Given the description of an element on the screen output the (x, y) to click on. 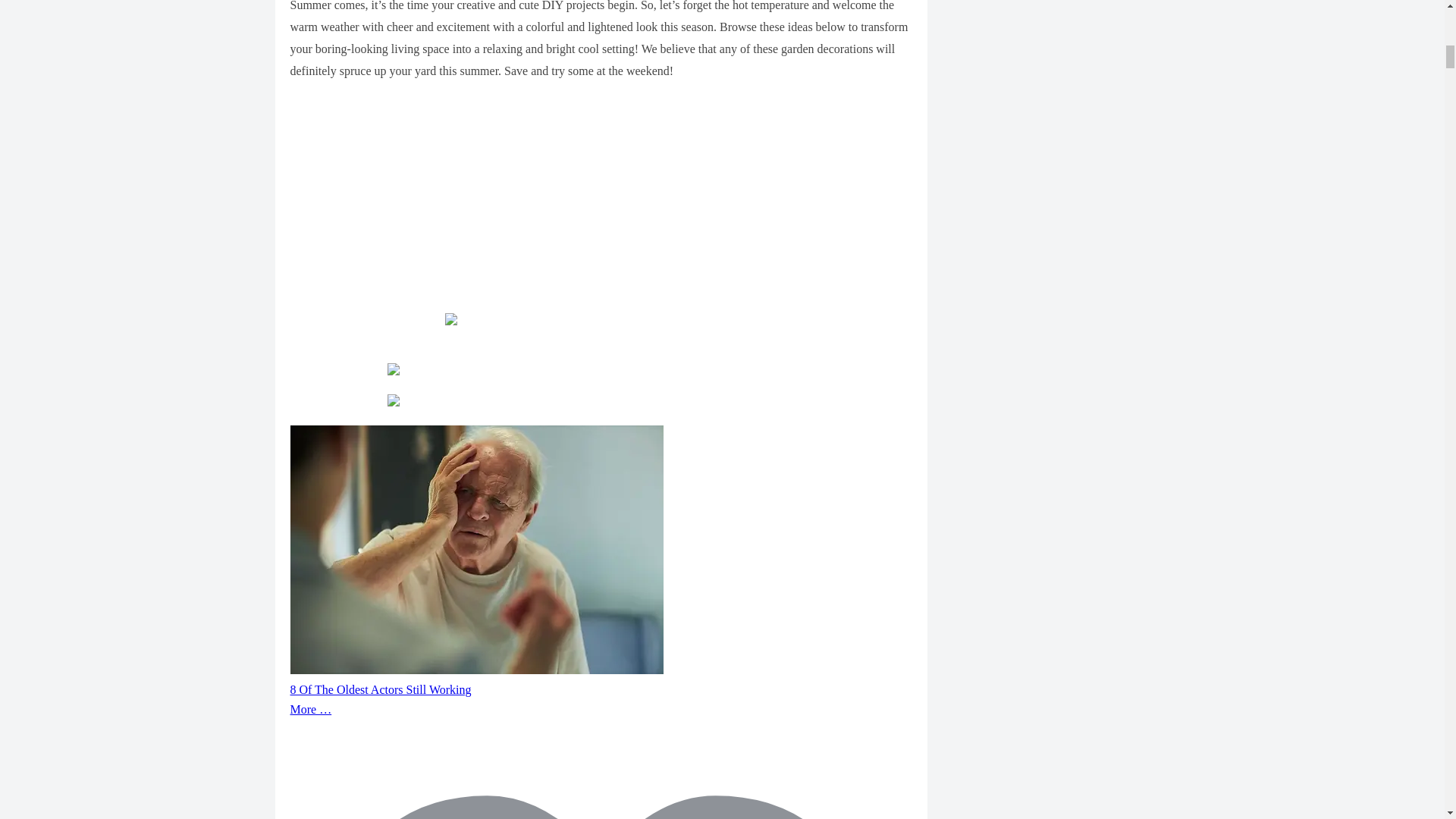
Advertisement (600, 206)
